Given the description of an element on the screen output the (x, y) to click on. 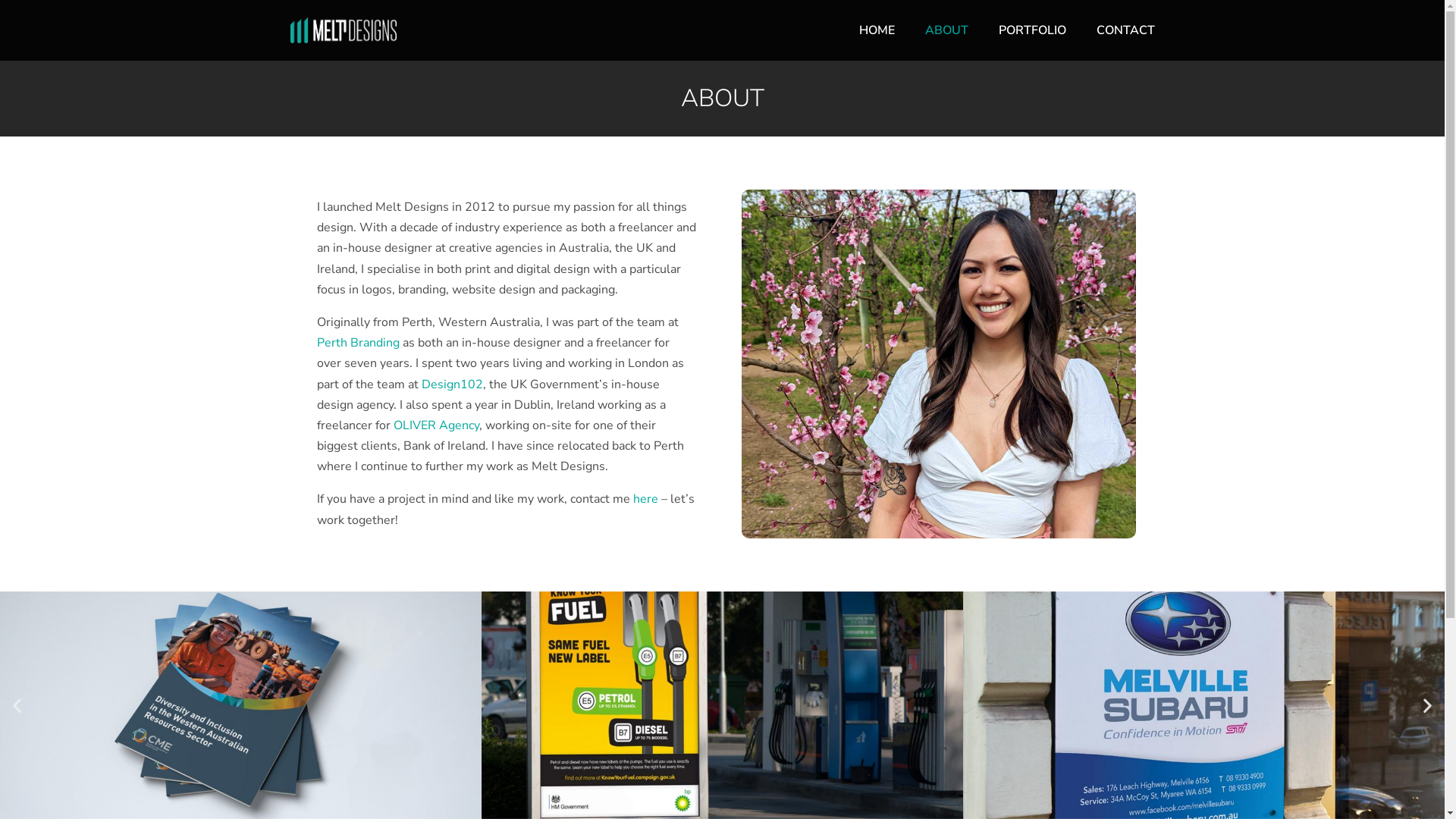
ABOUT Element type: text (722, 97)
Design102 Element type: text (452, 384)
CONTACT Element type: text (1125, 29)
HOME Element type: text (876, 29)
ABOUT Element type: text (946, 29)
here Element type: text (644, 498)
PORTFOLIO Element type: text (1031, 29)
OLIVER Agency Element type: text (435, 425)
Perth Branding Element type: text (357, 342)
